Given the description of an element on the screen output the (x, y) to click on. 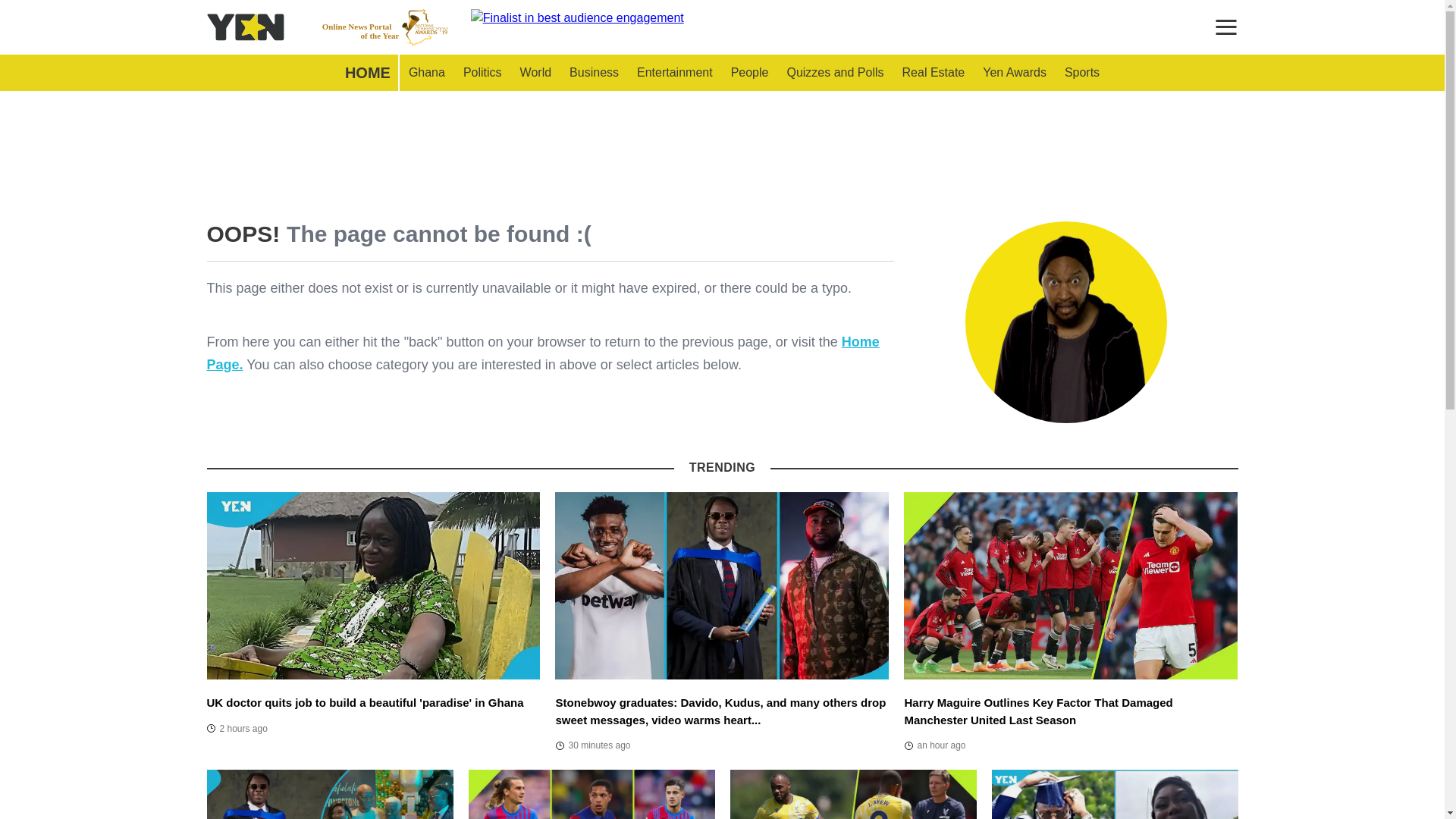
World (384, 27)
Sports (535, 72)
2024-07-27T13:56:51Z (1081, 72)
Business (934, 745)
2024-07-27T15:15:31Z (593, 72)
Real Estate (592, 745)
People (933, 72)
Quizzes and Polls (749, 72)
Ghana (834, 72)
Yen Awards (426, 72)
Politics (1014, 72)
2024-07-27T13:41:38Z (482, 72)
HOME (236, 728)
Entertainment (367, 72)
